Given the description of an element on the screen output the (x, y) to click on. 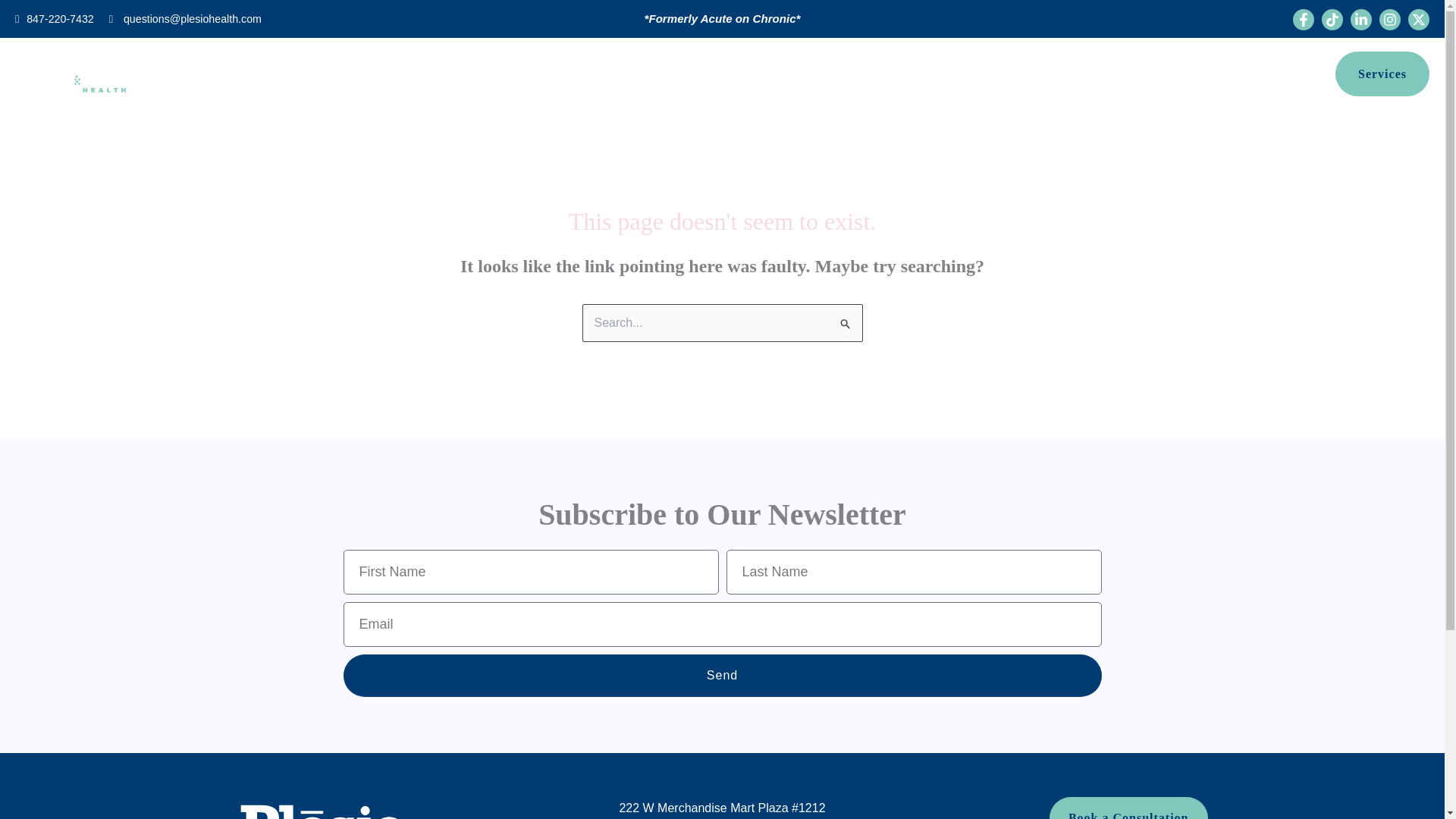
FAQ (779, 73)
Search (844, 324)
Publications (662, 73)
Blog (597, 73)
Contact (891, 73)
Search (844, 324)
Events (831, 73)
Book a Consultation (1128, 807)
Search (844, 324)
Services (1382, 74)
About (548, 73)
Send (721, 675)
847-220-7432 (60, 19)
News (730, 73)
